Given the description of an element on the screen output the (x, y) to click on. 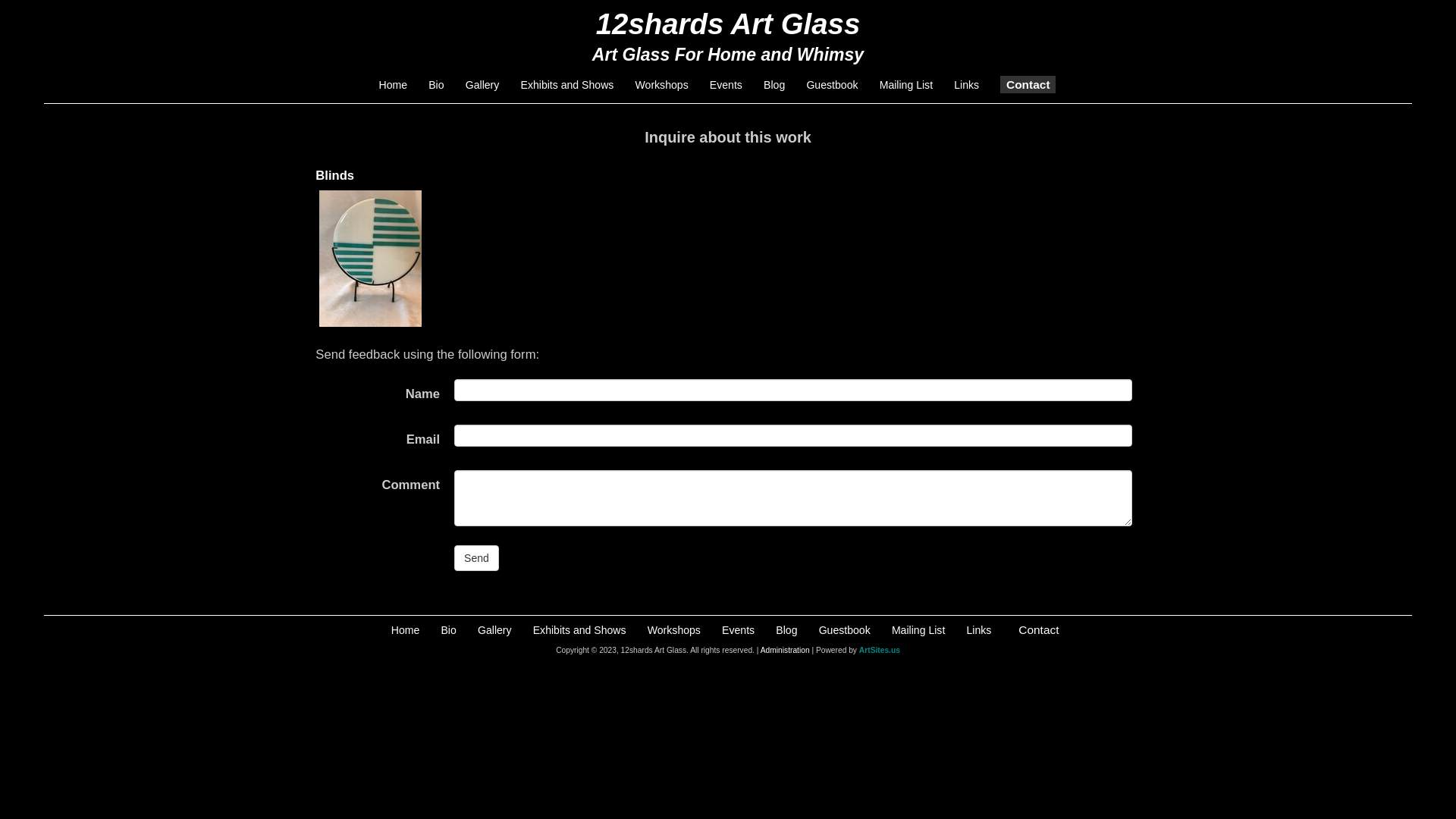
Bio Element type: text (447, 630)
Blinds Element type: text (334, 175)
Blog Element type: text (773, 84)
Events Element type: text (737, 630)
Workshops Element type: text (661, 84)
Gallery Element type: text (494, 630)
Exhibits and Shows Element type: text (566, 84)
Mailing List Element type: text (905, 84)
Administration Element type: text (784, 650)
ArtSites.us Element type: text (879, 650)
Links Element type: text (978, 630)
Blog Element type: text (786, 630)
Links Element type: text (966, 84)
Home Element type: text (393, 84)
Exhibits and Shows Element type: text (579, 630)
Guestbook Element type: text (831, 84)
Guestbook Element type: text (844, 630)
Gallery Element type: text (482, 84)
Mailing List Element type: text (917, 630)
12shards Art Glass Element type: text (728, 23)
Events Element type: text (725, 84)
Art Glass For Home and Whimsy Element type: text (727, 54)
Contact Element type: text (1027, 84)
Bio Element type: text (435, 84)
Home Element type: text (405, 630)
Workshops Element type: text (673, 630)
Send Element type: text (476, 558)
Contact Element type: text (1038, 629)
